Given the description of an element on the screen output the (x, y) to click on. 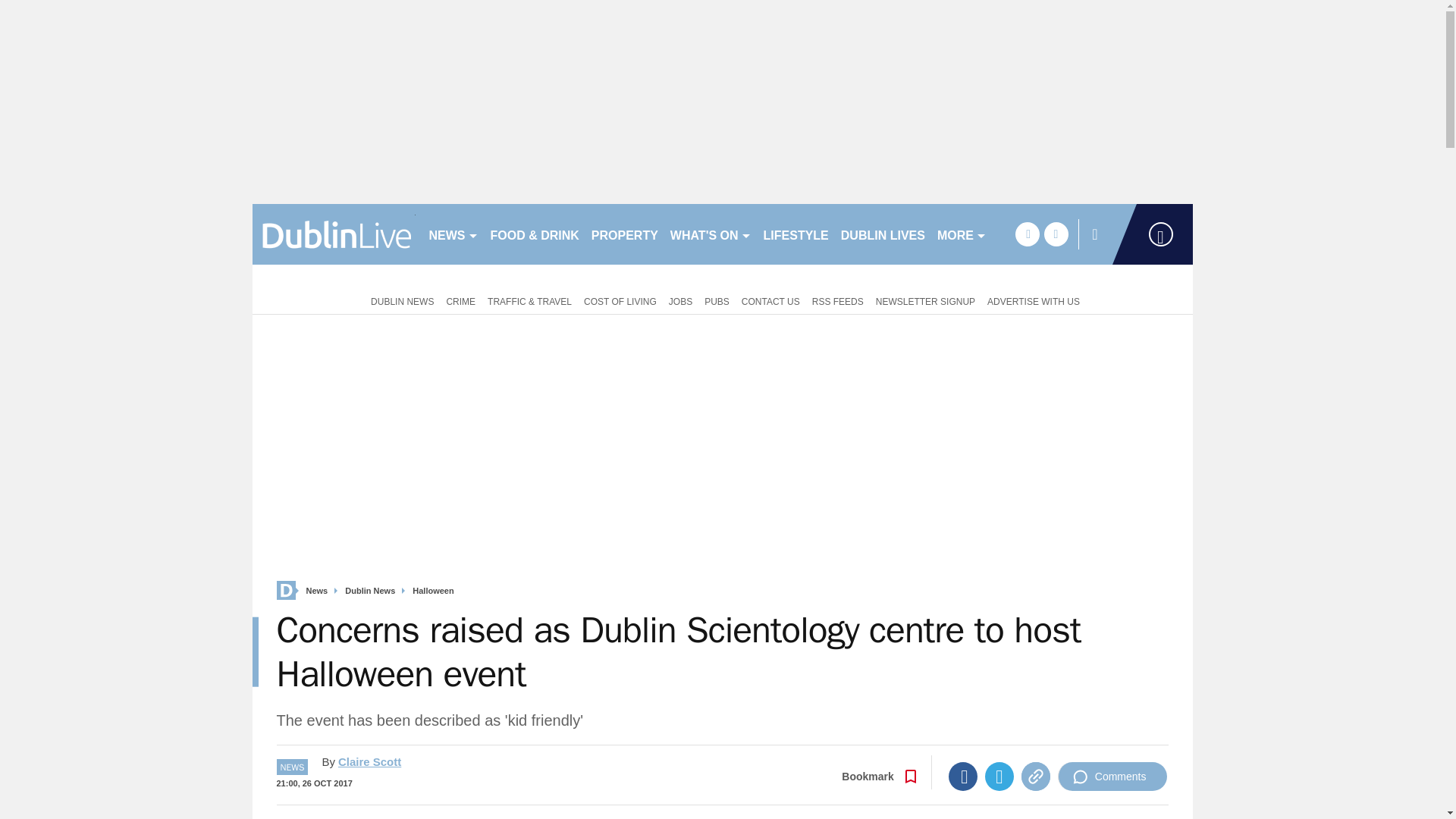
facebook (1026, 233)
Comments (1112, 776)
twitter (1055, 233)
WHAT'S ON (710, 233)
NEWS (453, 233)
MORE (961, 233)
PROPERTY (624, 233)
Twitter (999, 776)
Facebook (962, 776)
LIFESTYLE (795, 233)
DUBLIN LIVES (882, 233)
dublinlive (332, 233)
